Given the description of an element on the screen output the (x, y) to click on. 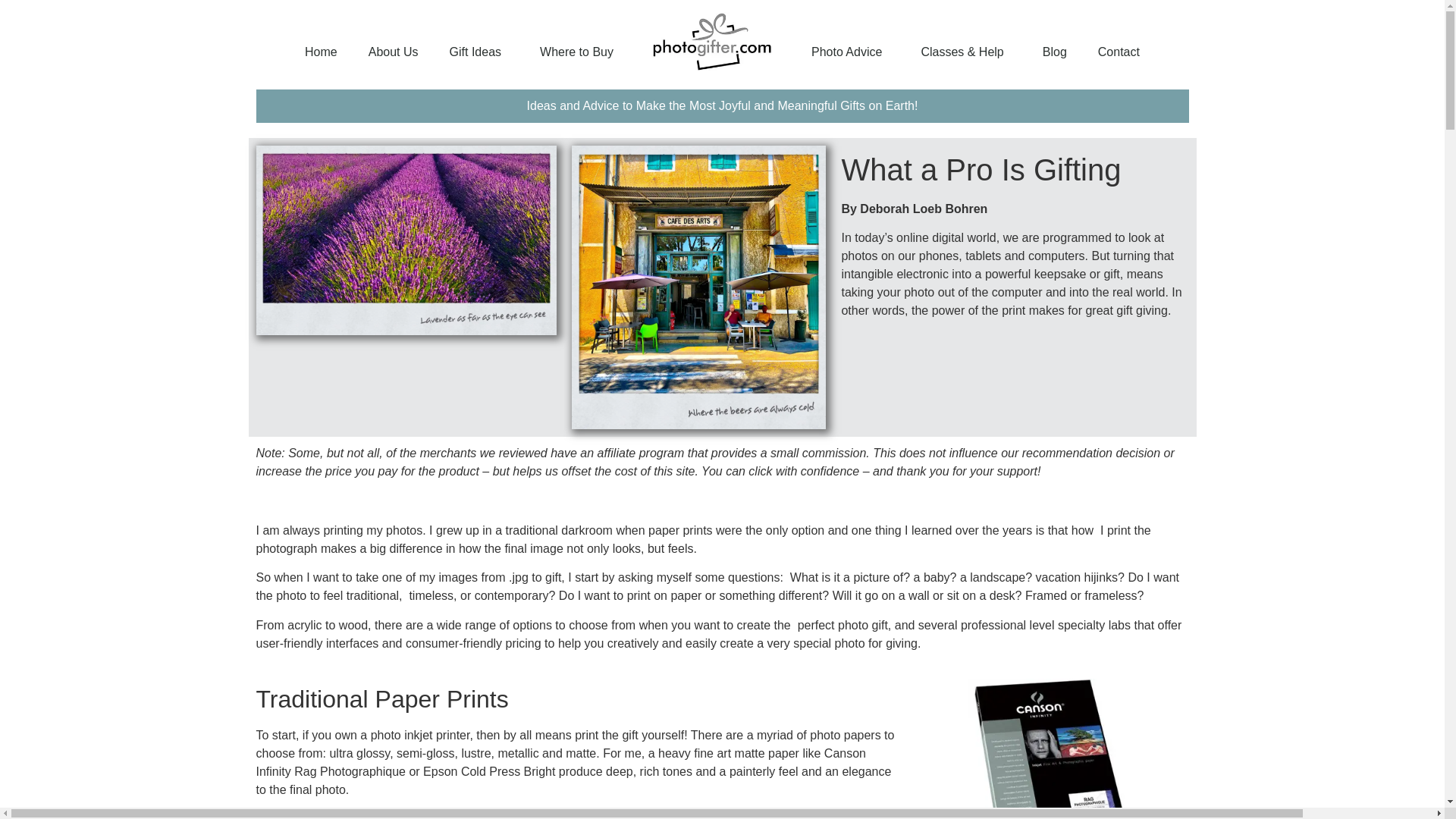
Photo Advice (849, 51)
Where to Buy (576, 51)
Photogifter (712, 41)
Contact (1118, 51)
About Us (393, 51)
Home (320, 51)
Gift Ideas (478, 51)
